Given the description of an element on the screen output the (x, y) to click on. 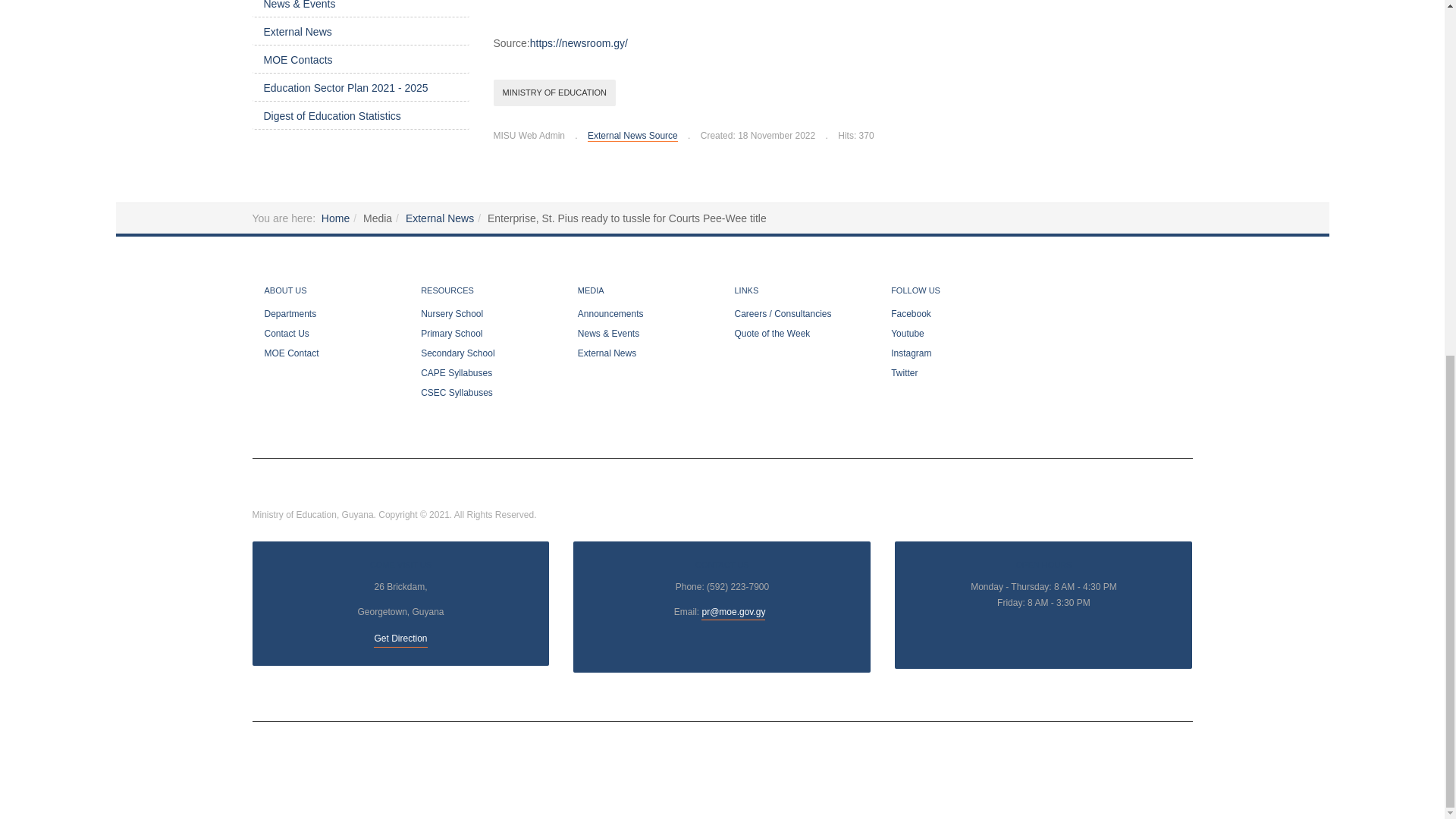
Get Direction (400, 638)
Category:  (626, 135)
Written by  (528, 135)
Contact Us (733, 612)
